Given the description of an element on the screen output the (x, y) to click on. 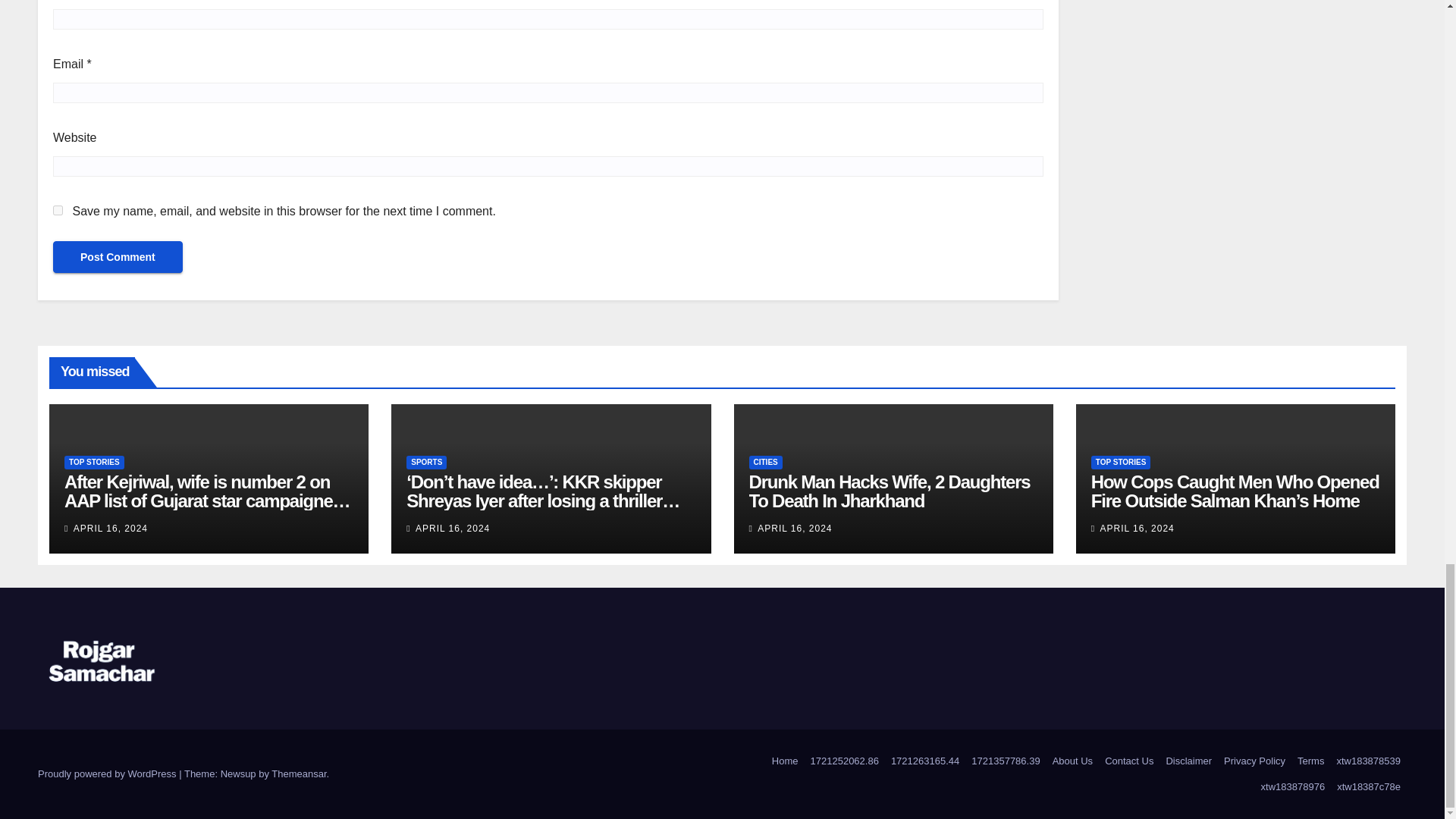
yes (57, 210)
Post Comment (117, 256)
